Given the description of an element on the screen output the (x, y) to click on. 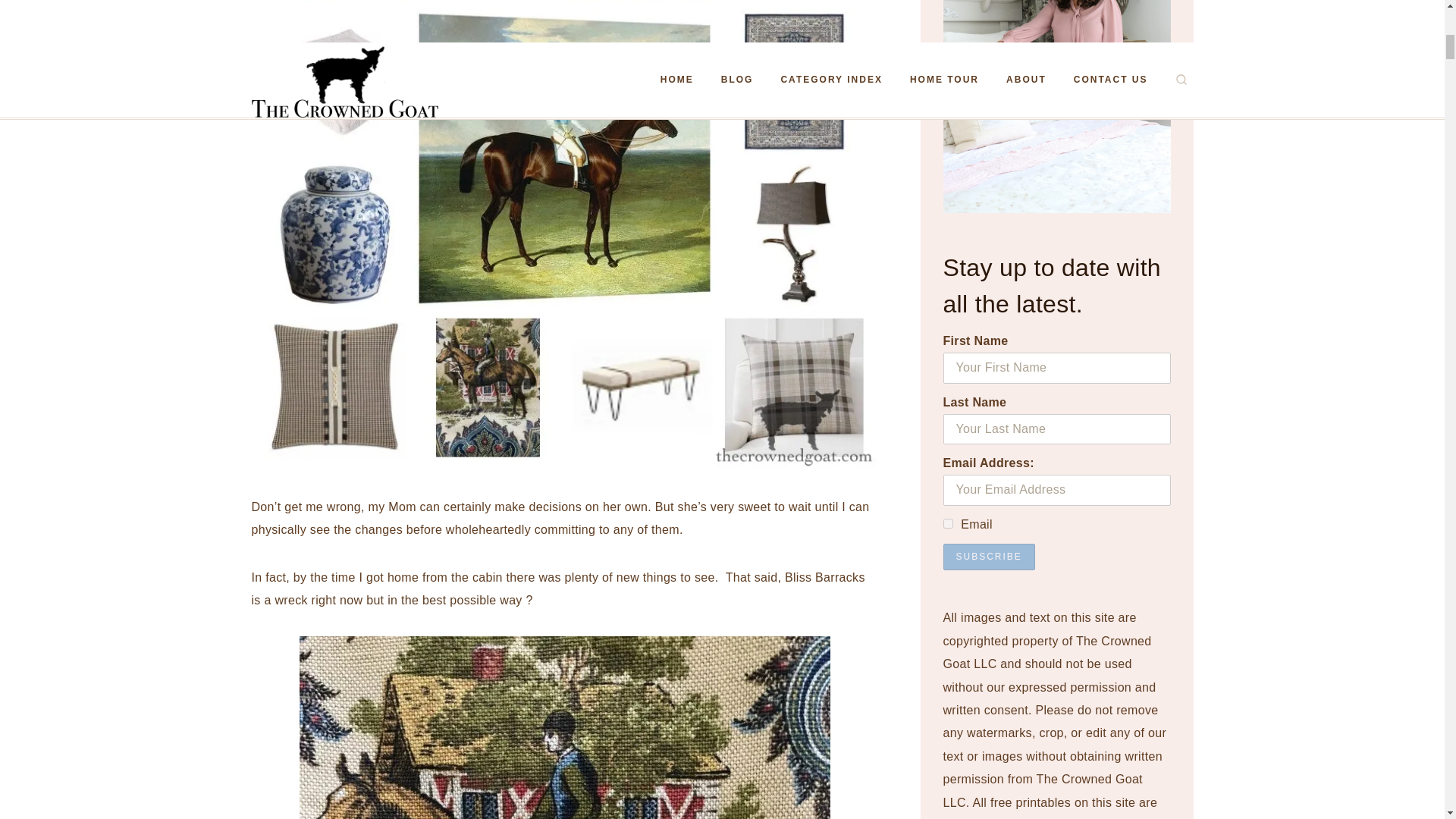
c136a7eab0 (948, 523)
Subscribe (989, 556)
